Given the description of an element on the screen output the (x, y) to click on. 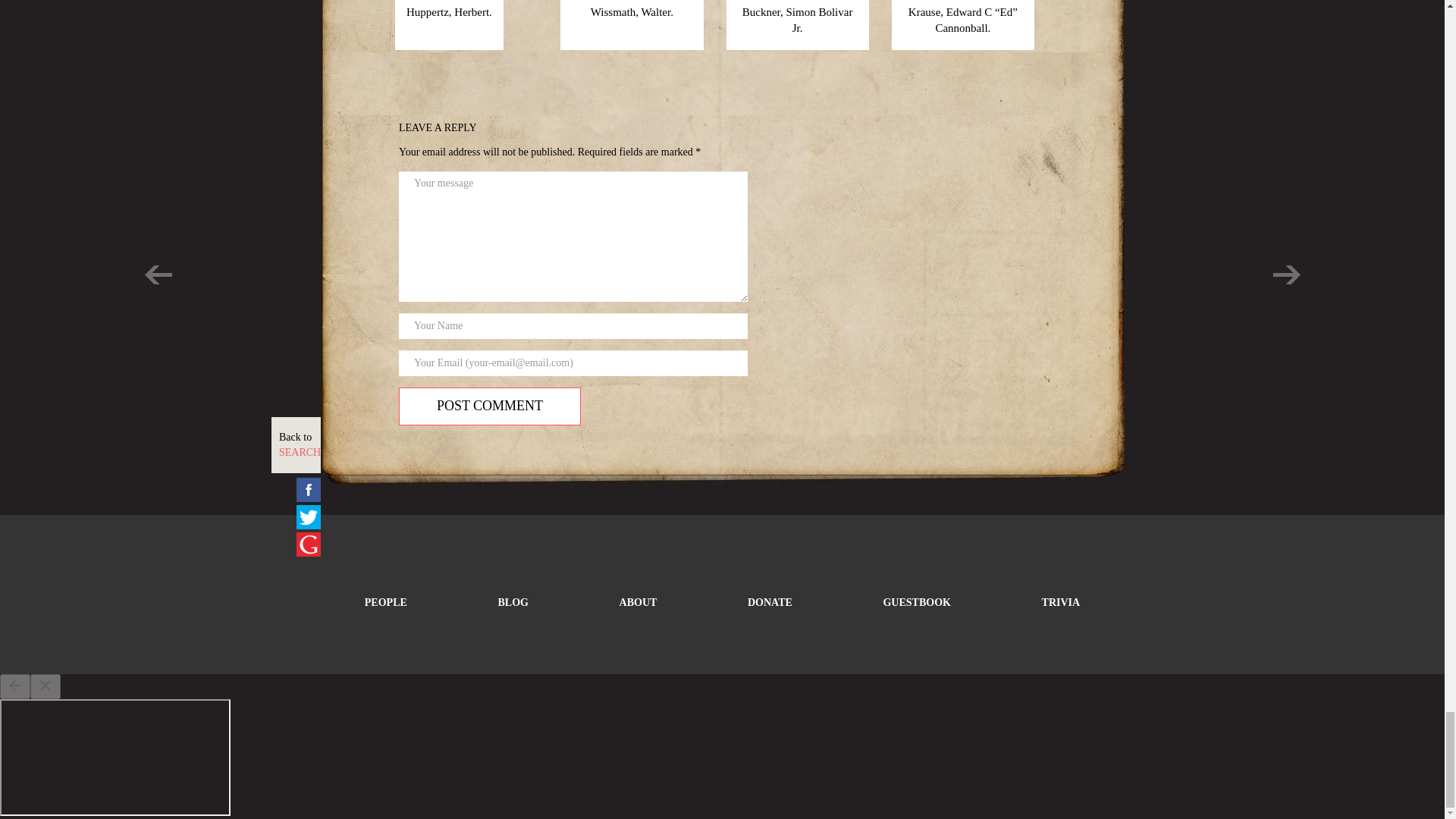
Post Comment (489, 406)
